Given the description of an element on the screen output the (x, y) to click on. 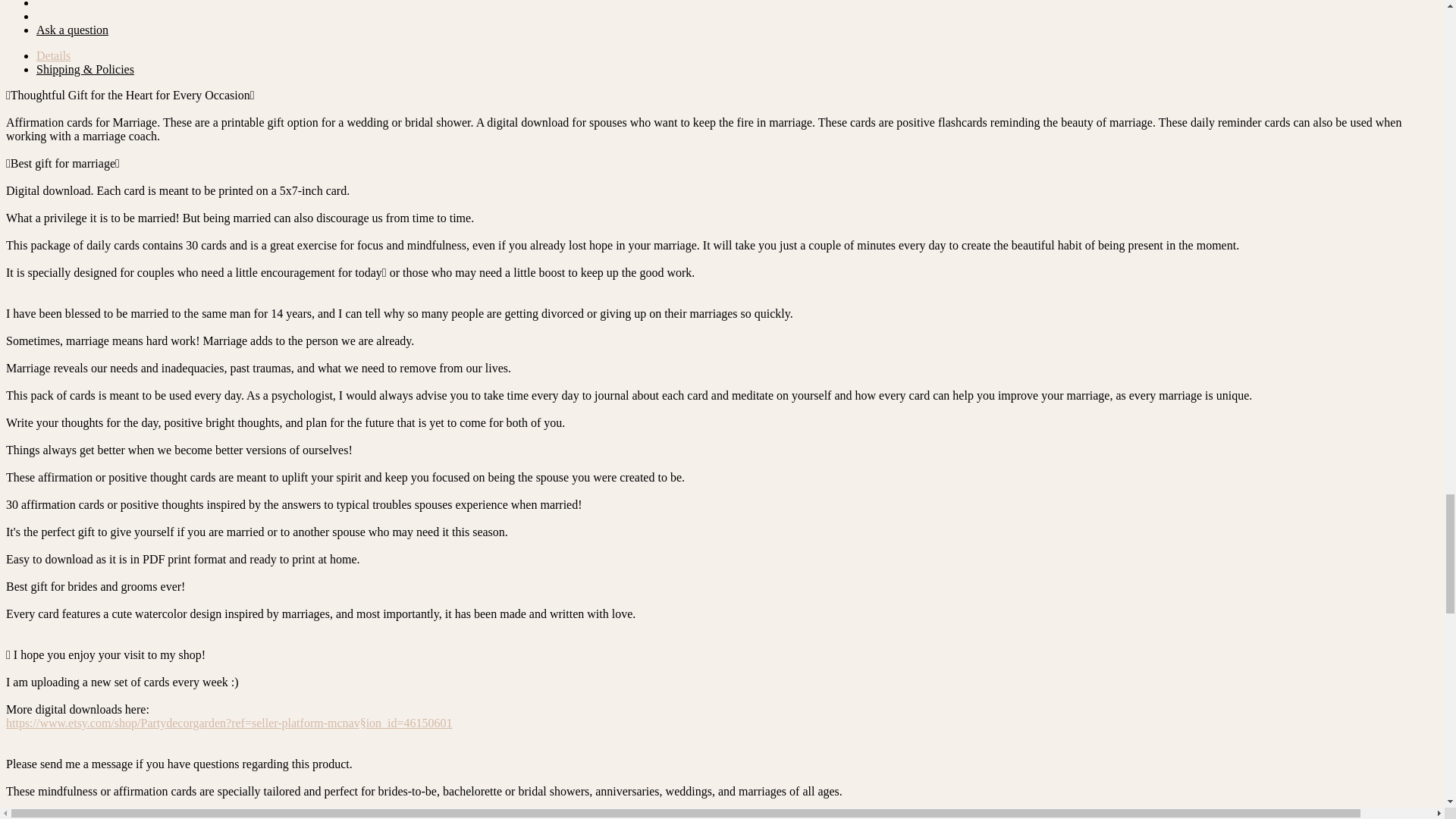
Ask a question (71, 29)
Details (52, 55)
